Given the description of an element on the screen output the (x, y) to click on. 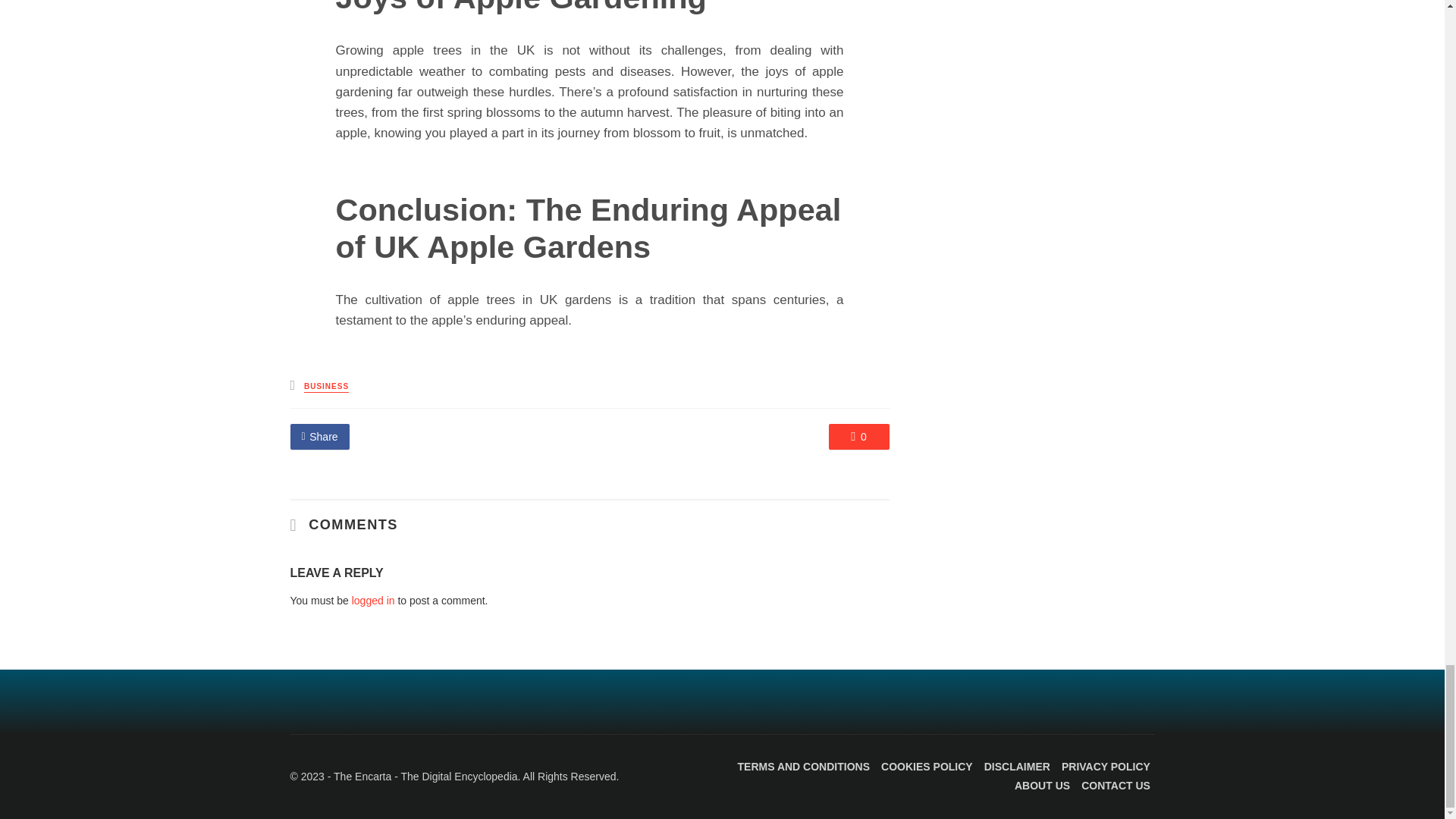
Share (319, 436)
0 (858, 436)
BUSINESS (326, 387)
logged in (373, 600)
